Given the description of an element on the screen output the (x, y) to click on. 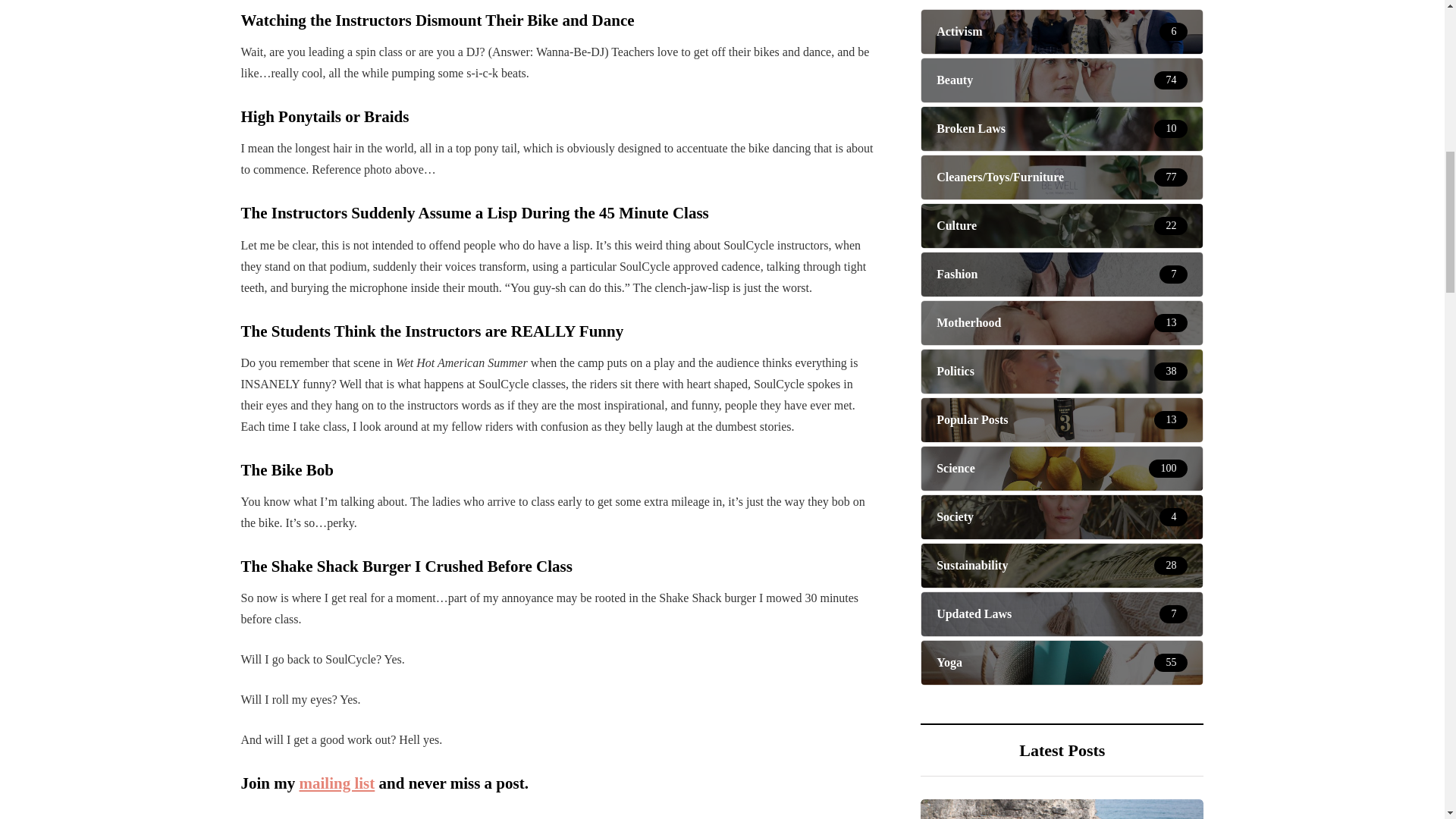
mailing list (337, 782)
